Given the description of an element on the screen output the (x, y) to click on. 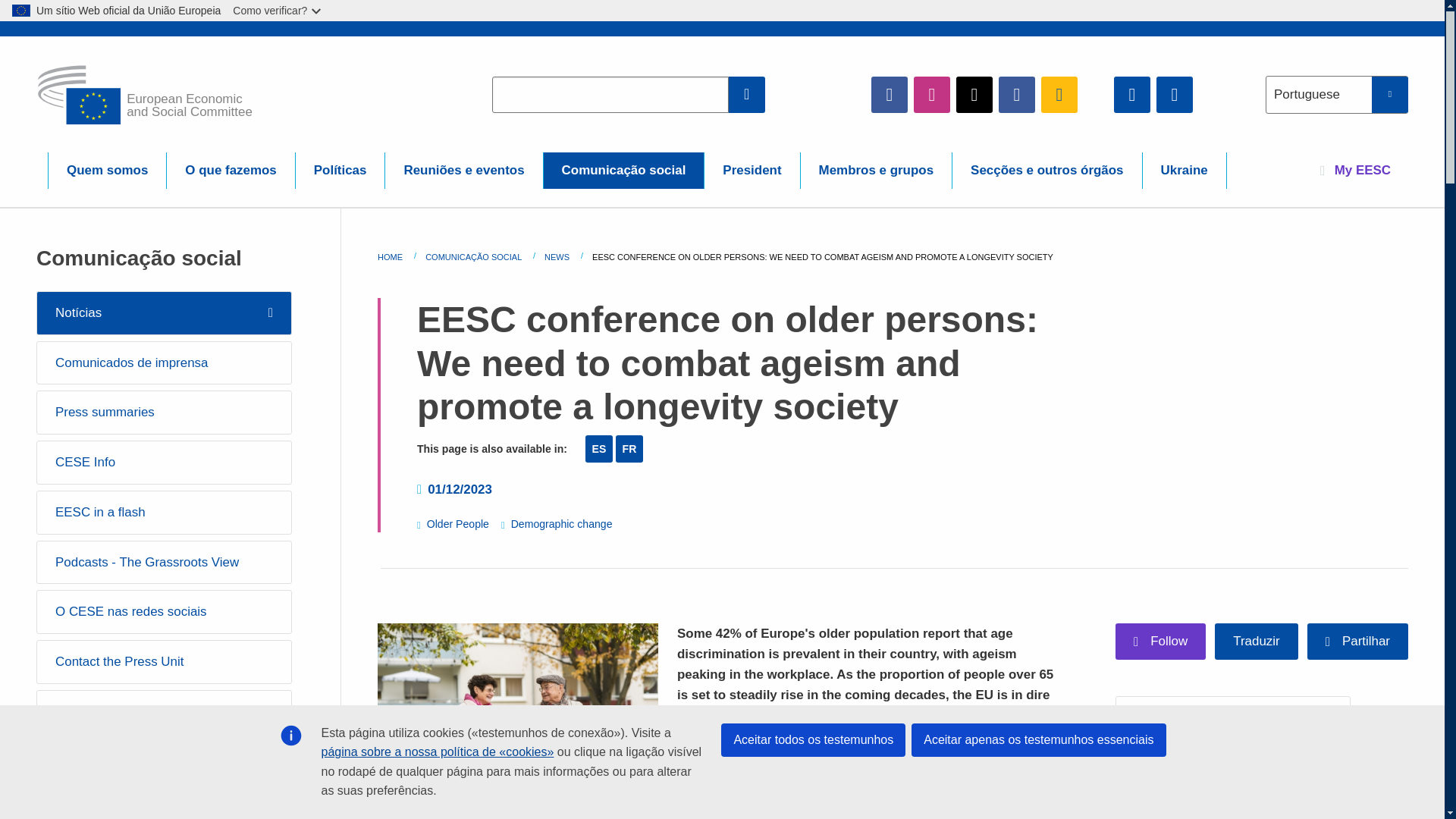
Search EESC Website (747, 94)
My EESC (1355, 170)
Como verificar? (278, 10)
Aceitar todos os testemunhos (812, 739)
Aceitar apenas os testemunhos essenciais (1038, 739)
